Given the description of an element on the screen output the (x, y) to click on. 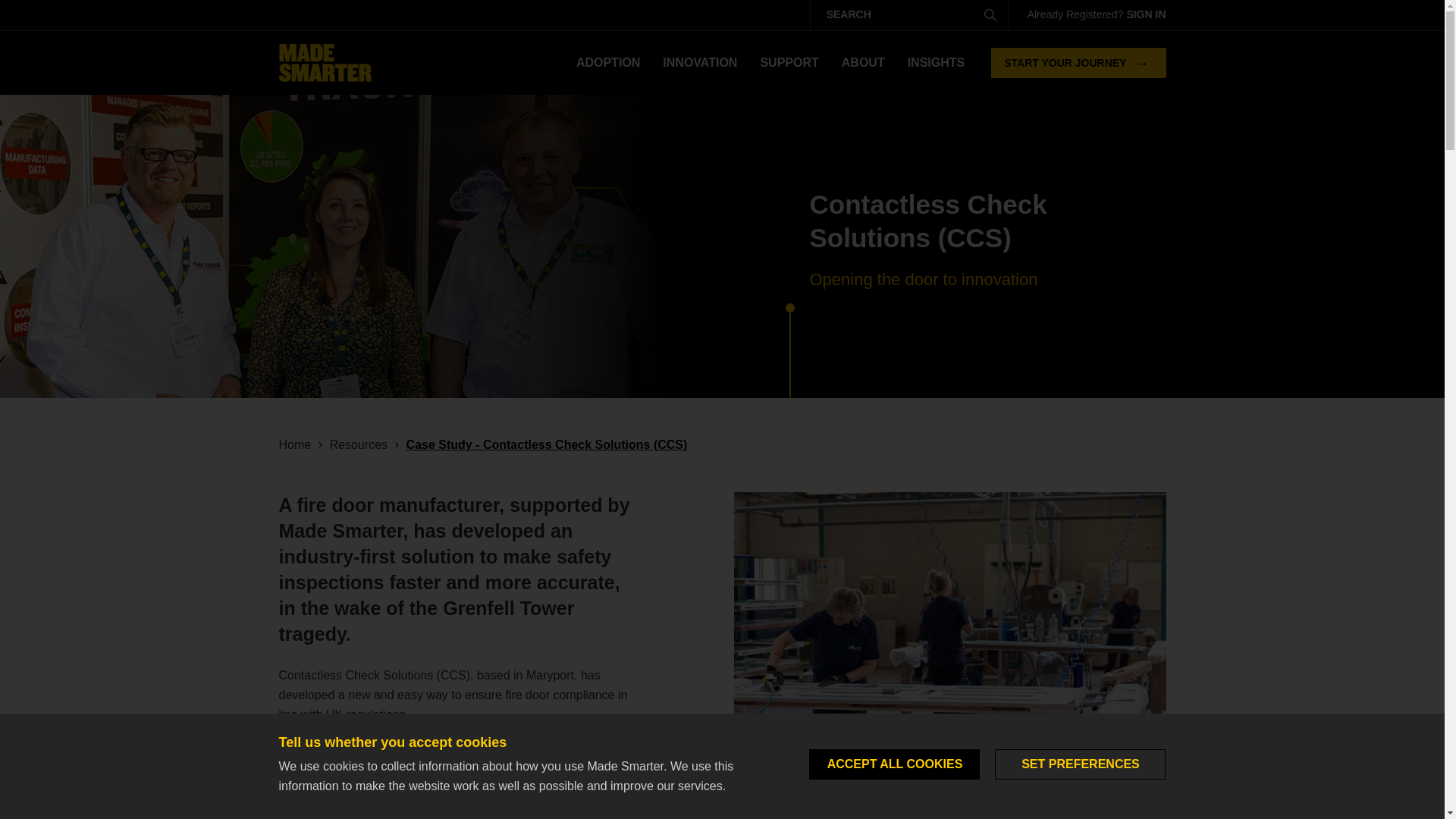
Home (325, 62)
SUPPORT (788, 63)
ABOUT (862, 63)
ADOPTION (607, 63)
INNOVATION (699, 63)
SIGN IN (1145, 14)
